Given the description of an element on the screen output the (x, y) to click on. 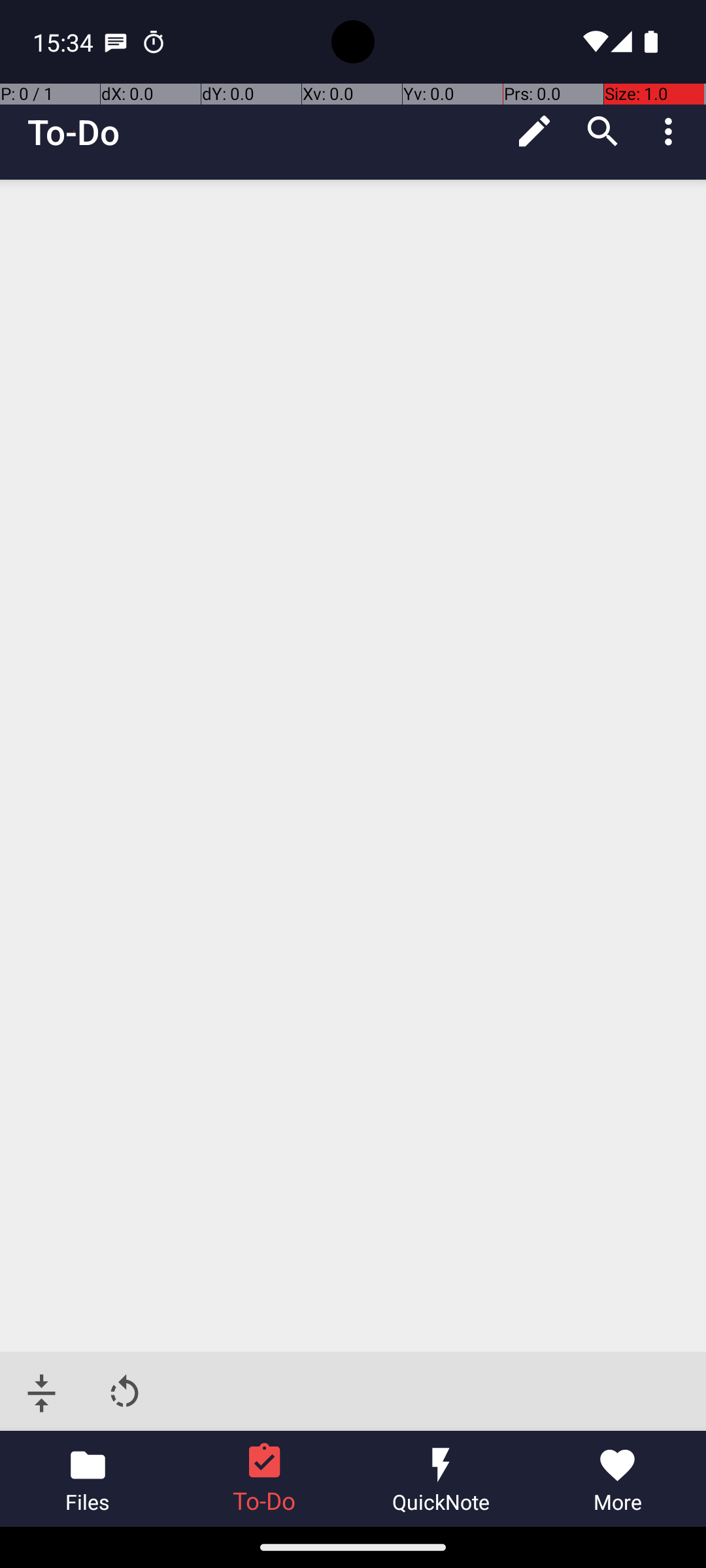
SMS Messenger notification: Emily Ibrahim Element type: android.widget.ImageView (115, 41)
